Given the description of an element on the screen output the (x, y) to click on. 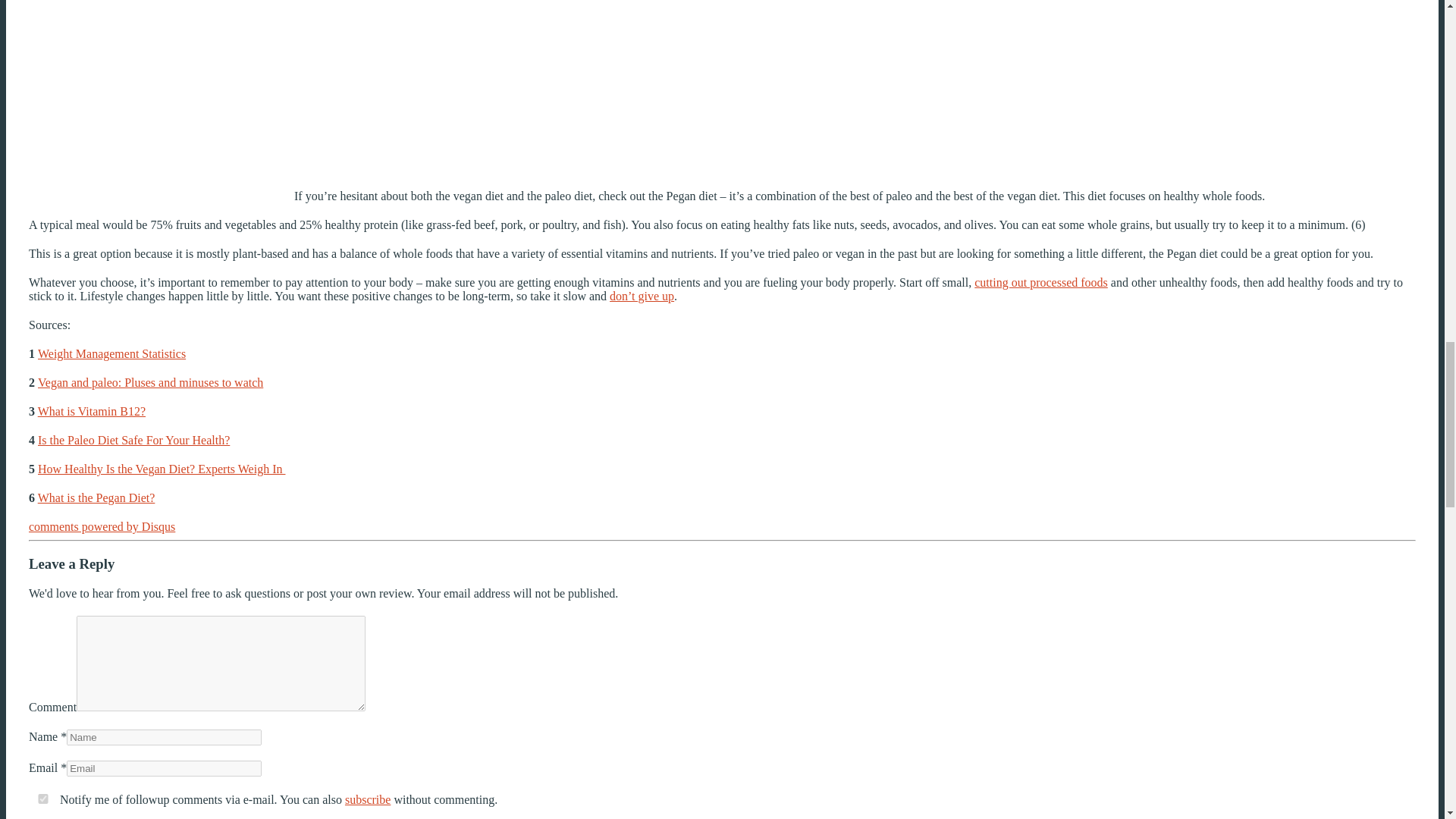
cutting out processed foods (1041, 282)
How Healthy Is the Vegan Diet? Experts Weigh In (161, 468)
What is Vitamin B12? (91, 410)
comments powered by Disqus (101, 526)
What is the Pegan Diet? (96, 497)
Vegan and paleo: Pluses and minuses to watch (150, 382)
subscribe (367, 799)
Weight Management Statistics (111, 353)
Is the Paleo Diet Safe For Your Health? (133, 440)
replies (43, 798)
